Given the description of an element on the screen output the (x, y) to click on. 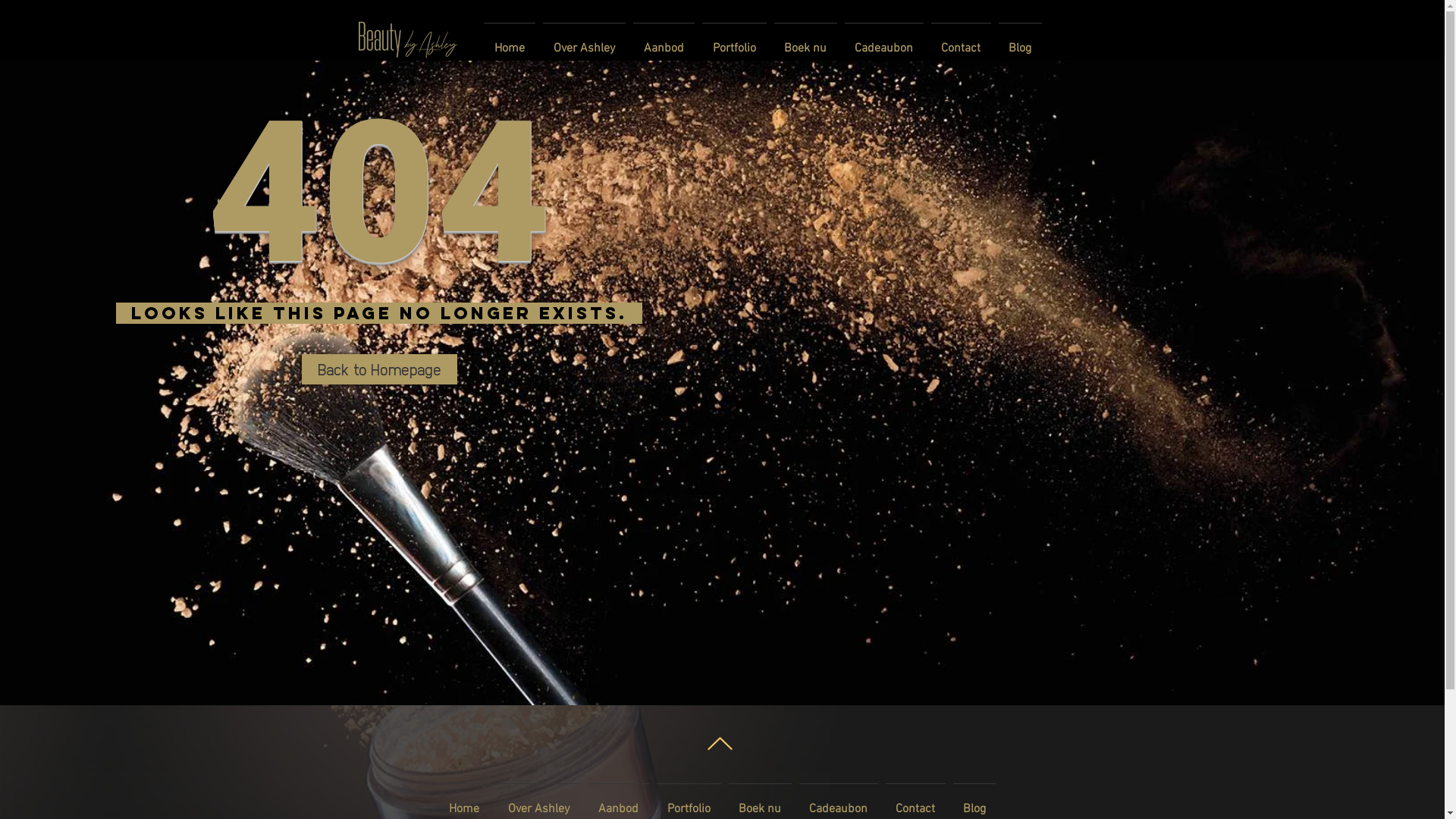
Portfolio Element type: text (733, 41)
Over Ashley Element type: text (583, 41)
Back to Homepage Element type: text (379, 369)
Home Element type: text (508, 41)
Cadeaubon Element type: text (883, 41)
Boek nu Element type: text (805, 41)
  Looks like this page no longer exists.   Element type: text (379, 312)
Blog Element type: text (1019, 41)
Contact Element type: text (960, 41)
404 Element type: text (379, 176)
